Given the description of an element on the screen output the (x, y) to click on. 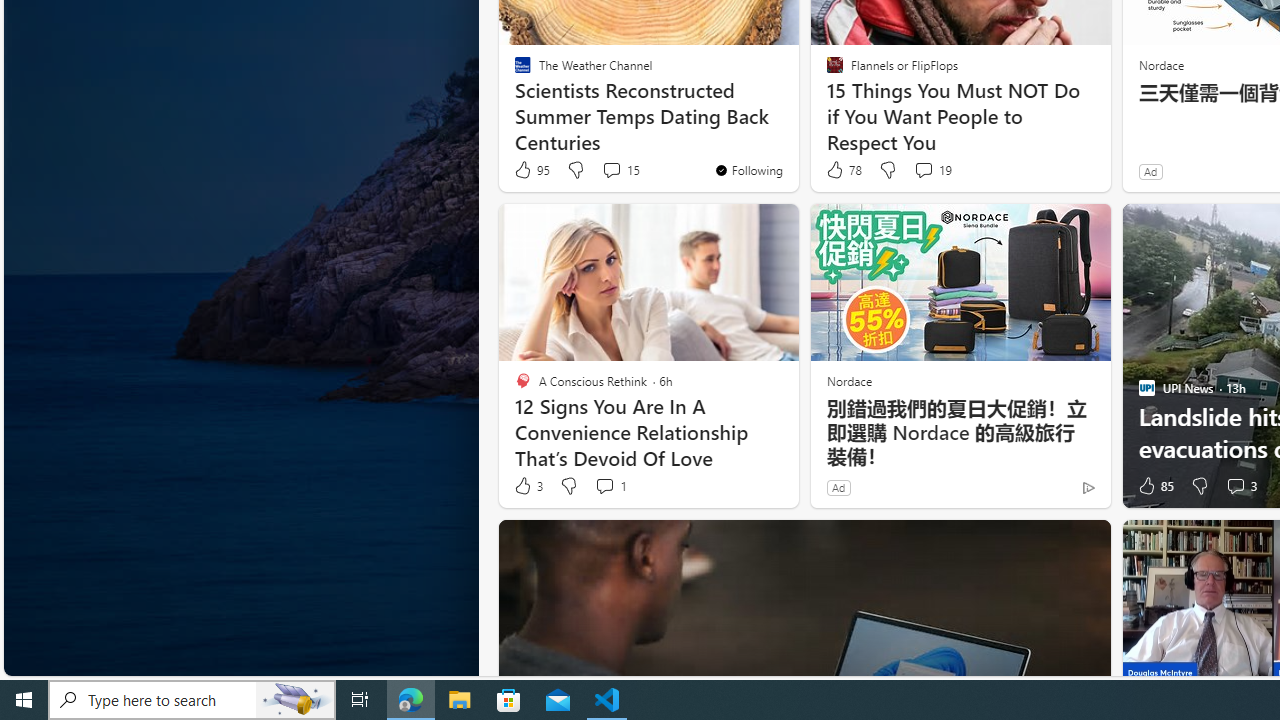
View comments 3 Comment (1234, 485)
95 Like (531, 170)
